Given the description of an element on the screen output the (x, y) to click on. 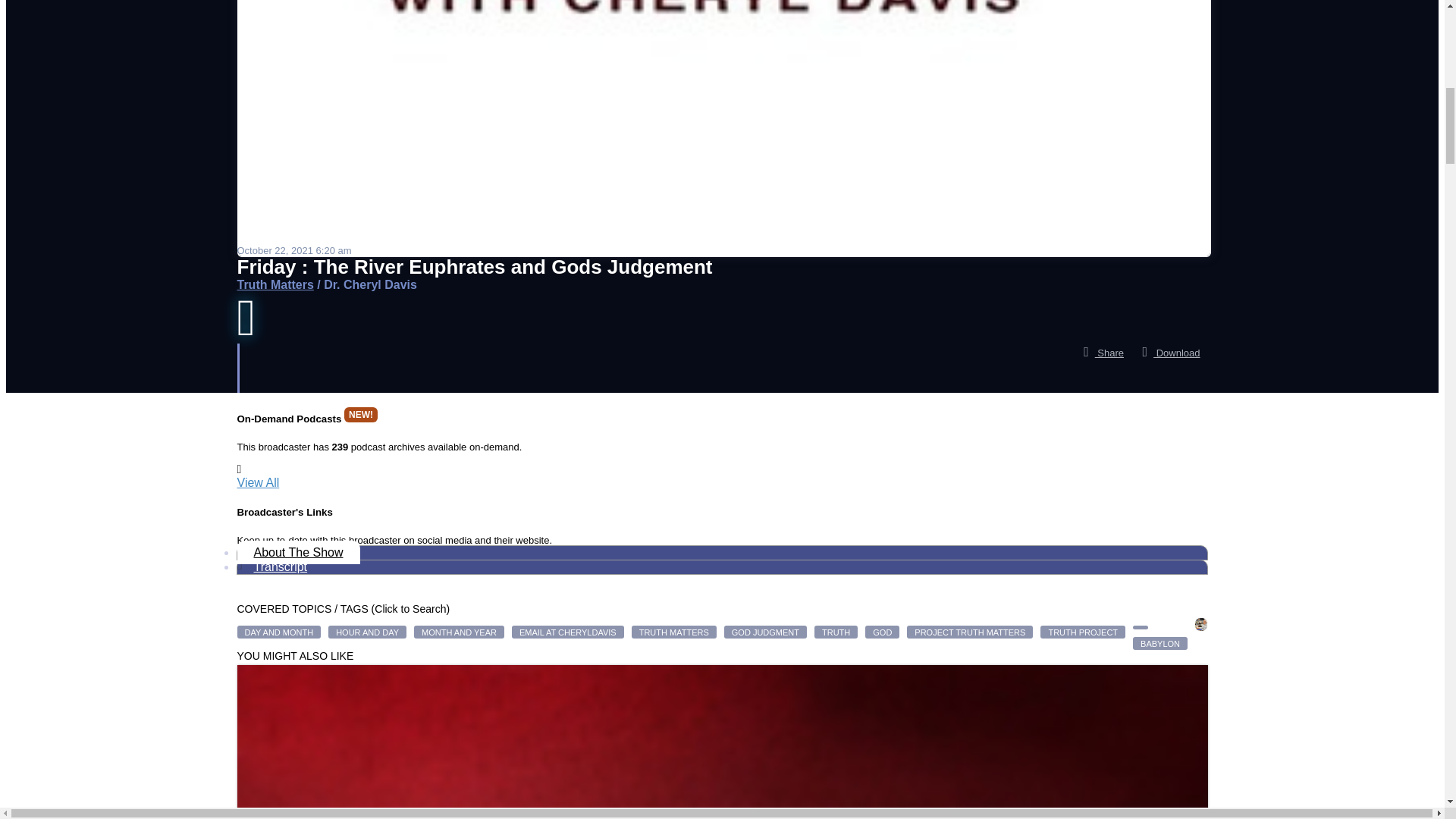
Go to Show Details (274, 284)
